Given the description of an element on the screen output the (x, y) to click on. 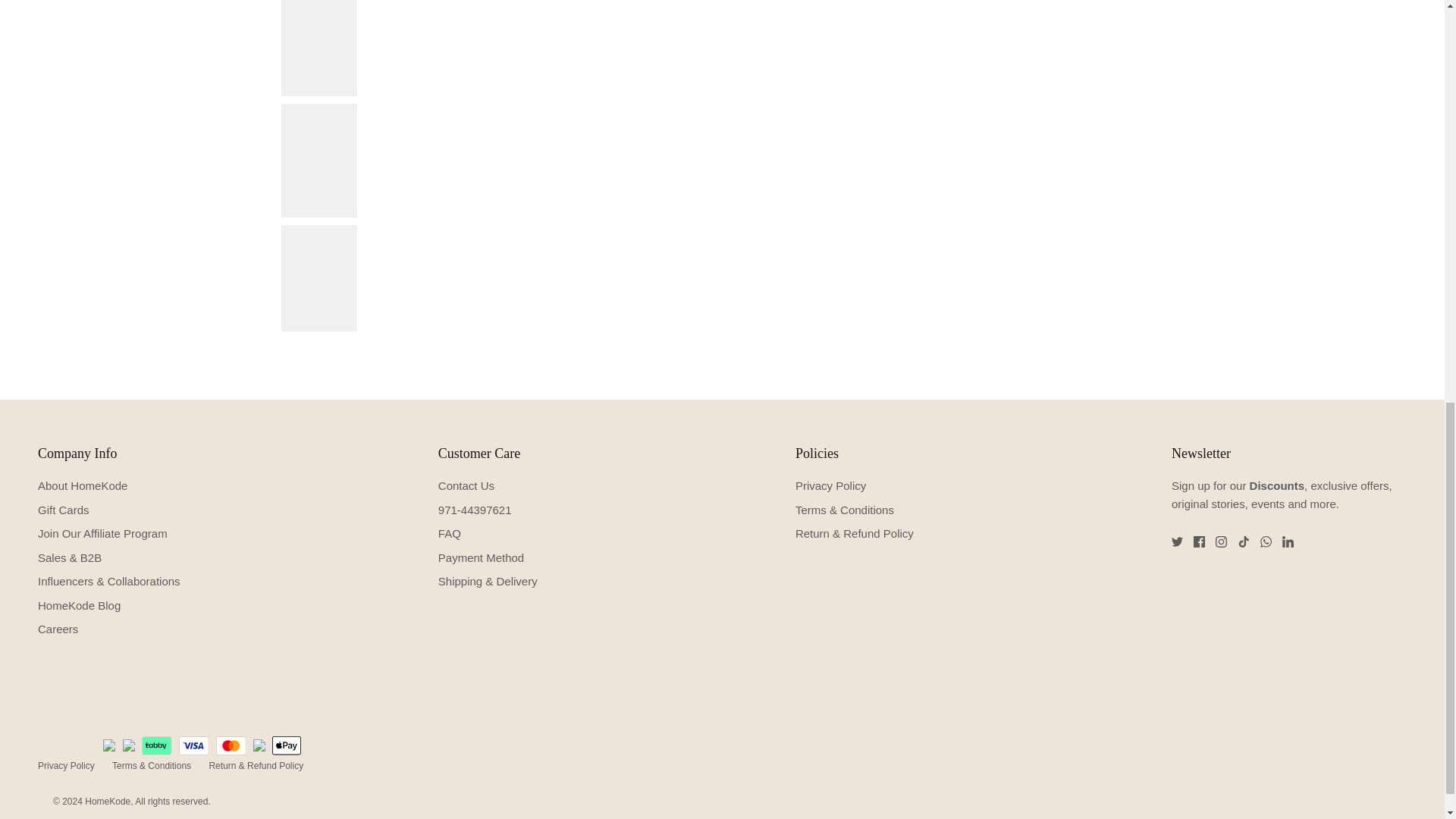
Tabby (156, 745)
Visa (194, 745)
Instagram (1221, 541)
Facebook (1199, 541)
Twitter (1177, 541)
